Given the description of an element on the screen output the (x, y) to click on. 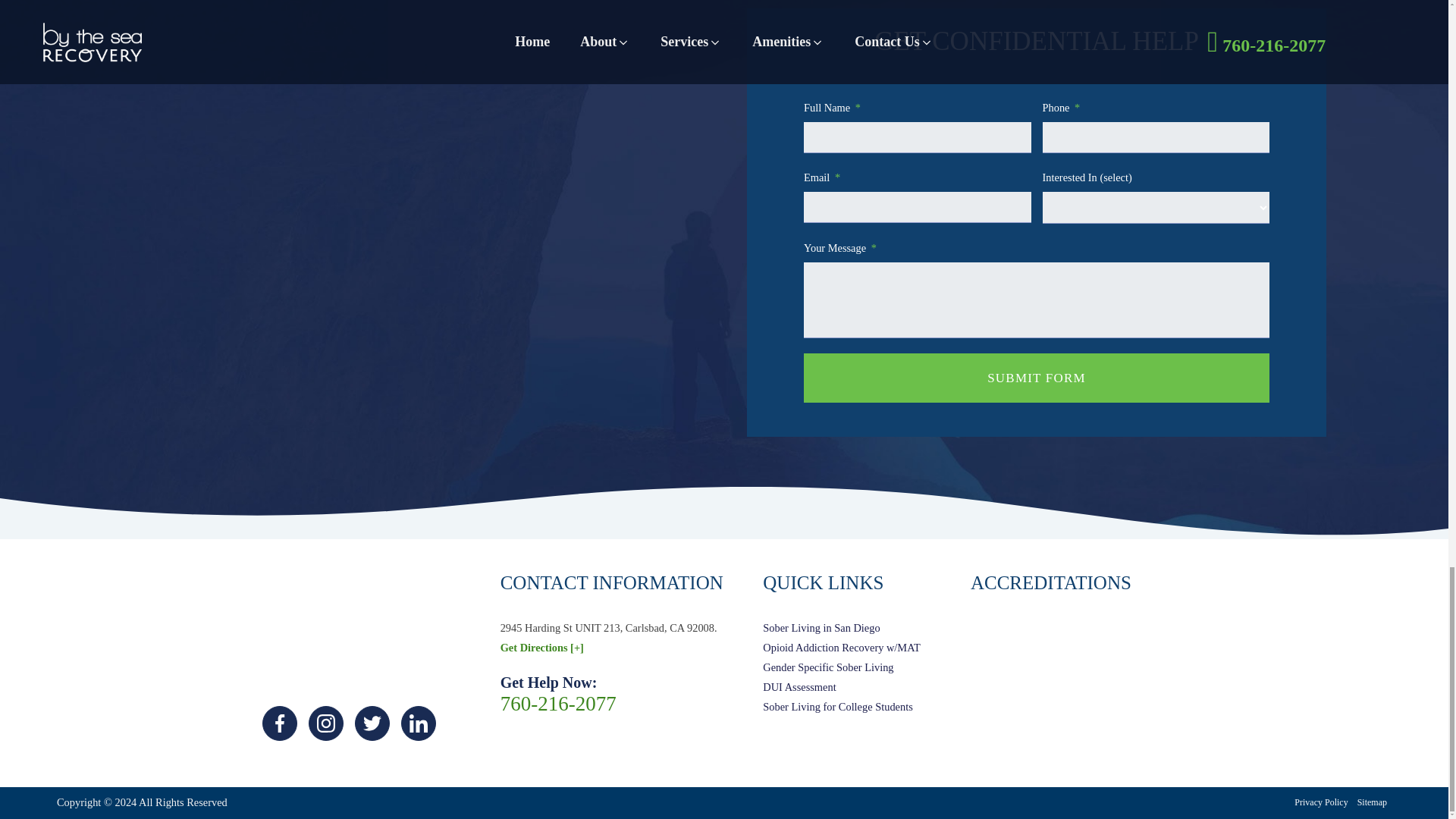
Sober Living for College Students (841, 707)
Sober Living in San Diego (841, 628)
SUBMIT FORM (1036, 377)
DUI Assessment (841, 687)
Gender Specific Sober Living (841, 668)
